Given the description of an element on the screen output the (x, y) to click on. 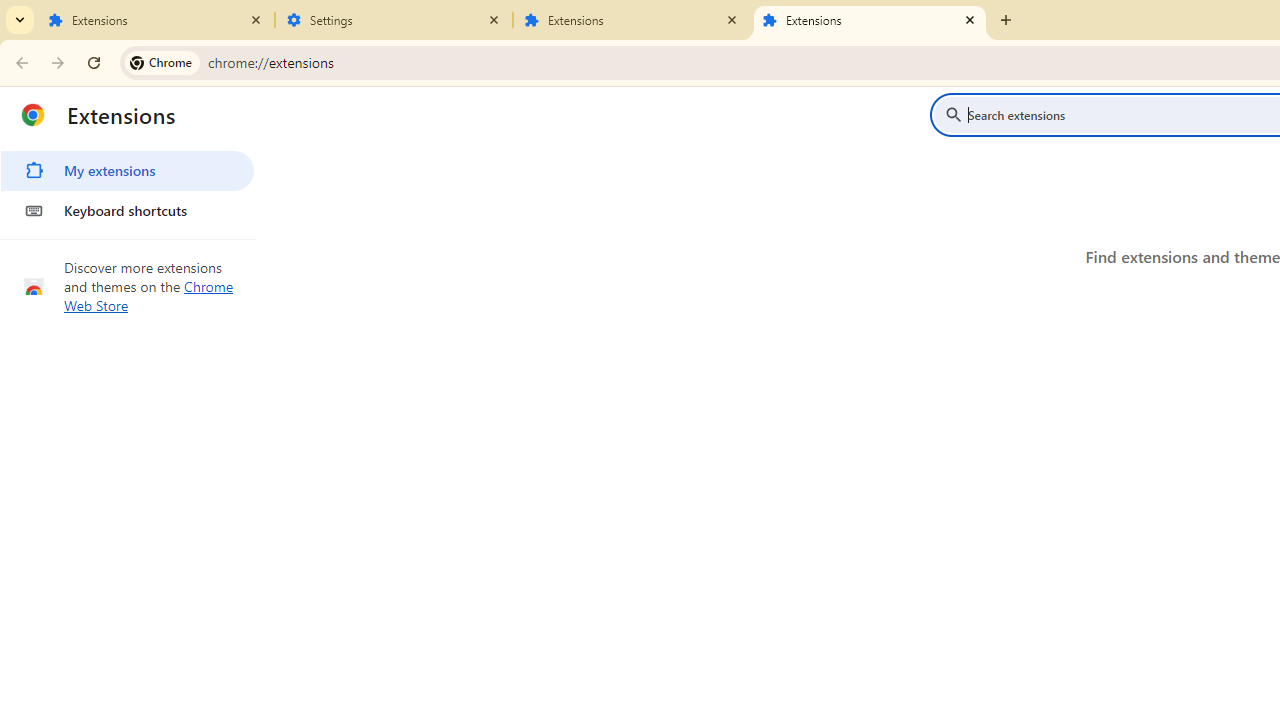
Extensions (156, 20)
Chrome Web Store (149, 296)
Settings (394, 20)
AutomationID: sectionMenu (128, 187)
Extensions (870, 20)
Extensions (632, 20)
Keyboard shortcuts (127, 210)
